Given the description of an element on the screen output the (x, y) to click on. 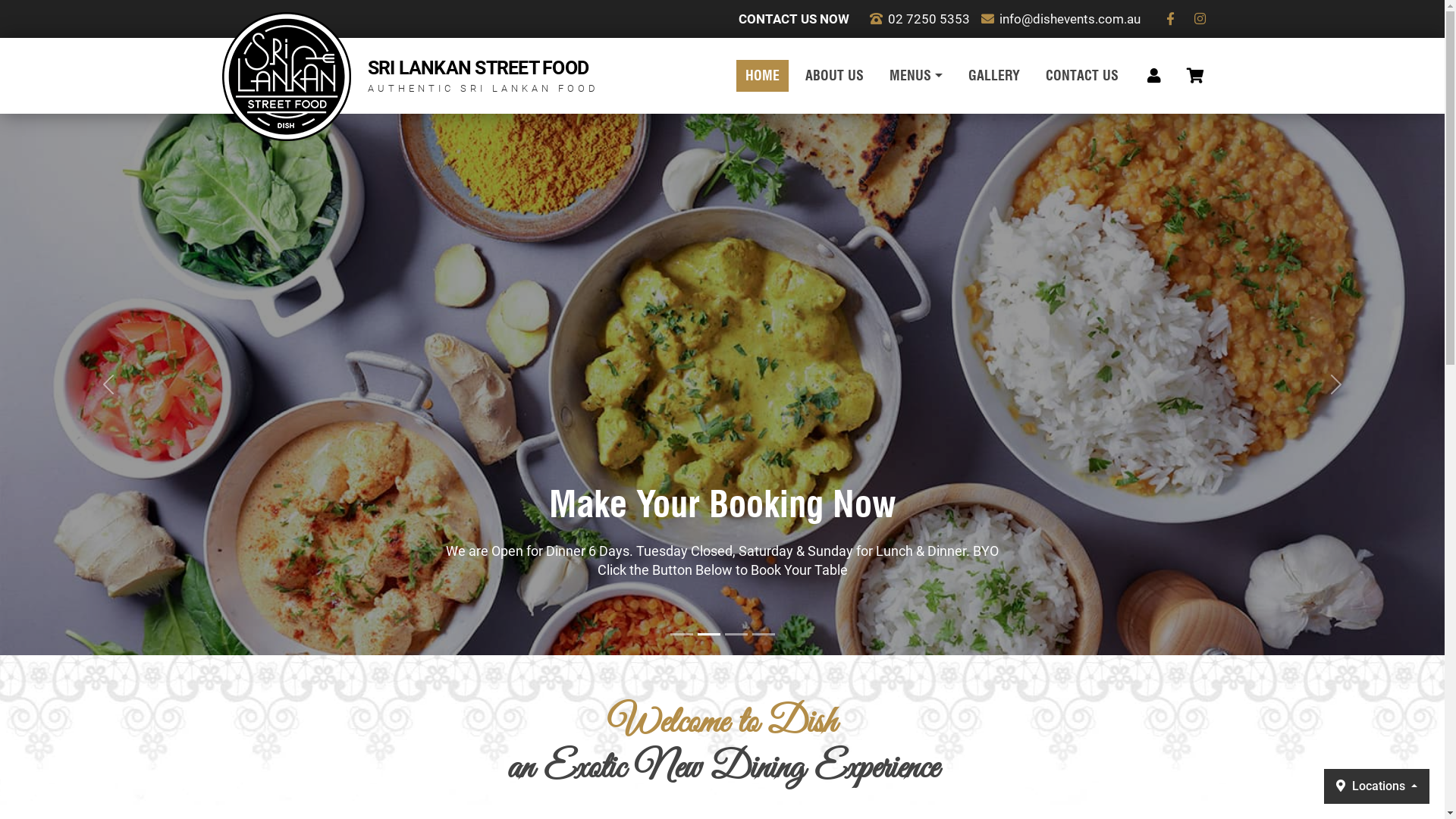
HOME Element type: text (762, 75)
Previous Element type: text (108, 384)
GALLERY Element type: text (993, 75)
MENUS Element type: text (915, 75)
ABOUT US Element type: text (834, 75)
Locations Element type: text (1376, 785)
CONTACT US Element type: text (1080, 75)
DiSh - Sri Lankan Street Food Element type: hover (285, 76)
Next Element type: text (1335, 384)
